Given the description of an element on the screen output the (x, y) to click on. 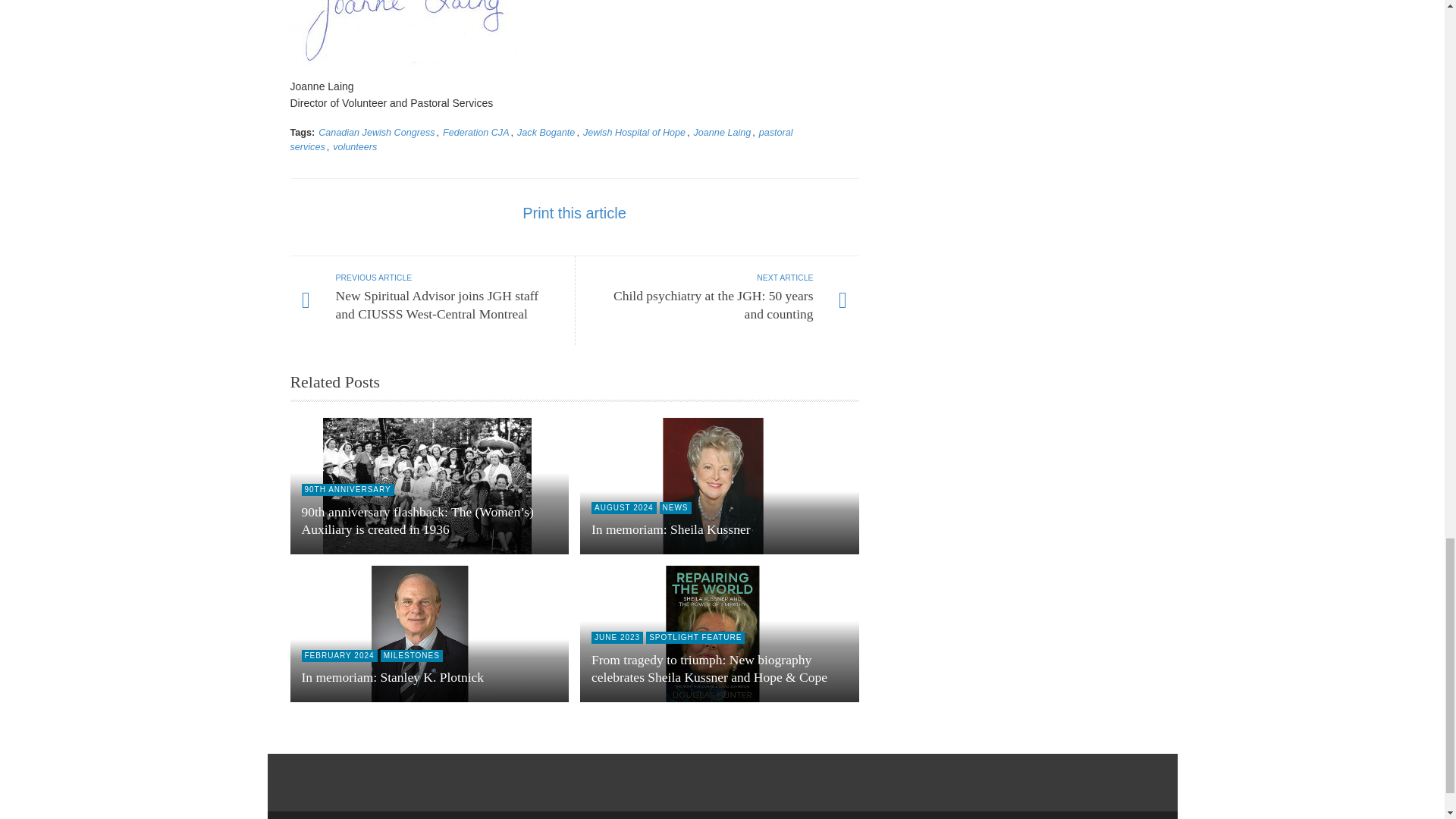
Federation CJA (475, 132)
Print this article (574, 212)
Joanne Laing (722, 132)
Jack Bogante (545, 132)
Jewish Hospital of Hope (634, 132)
Canadian Jewish Congress (375, 132)
